Given the description of an element on the screen output the (x, y) to click on. 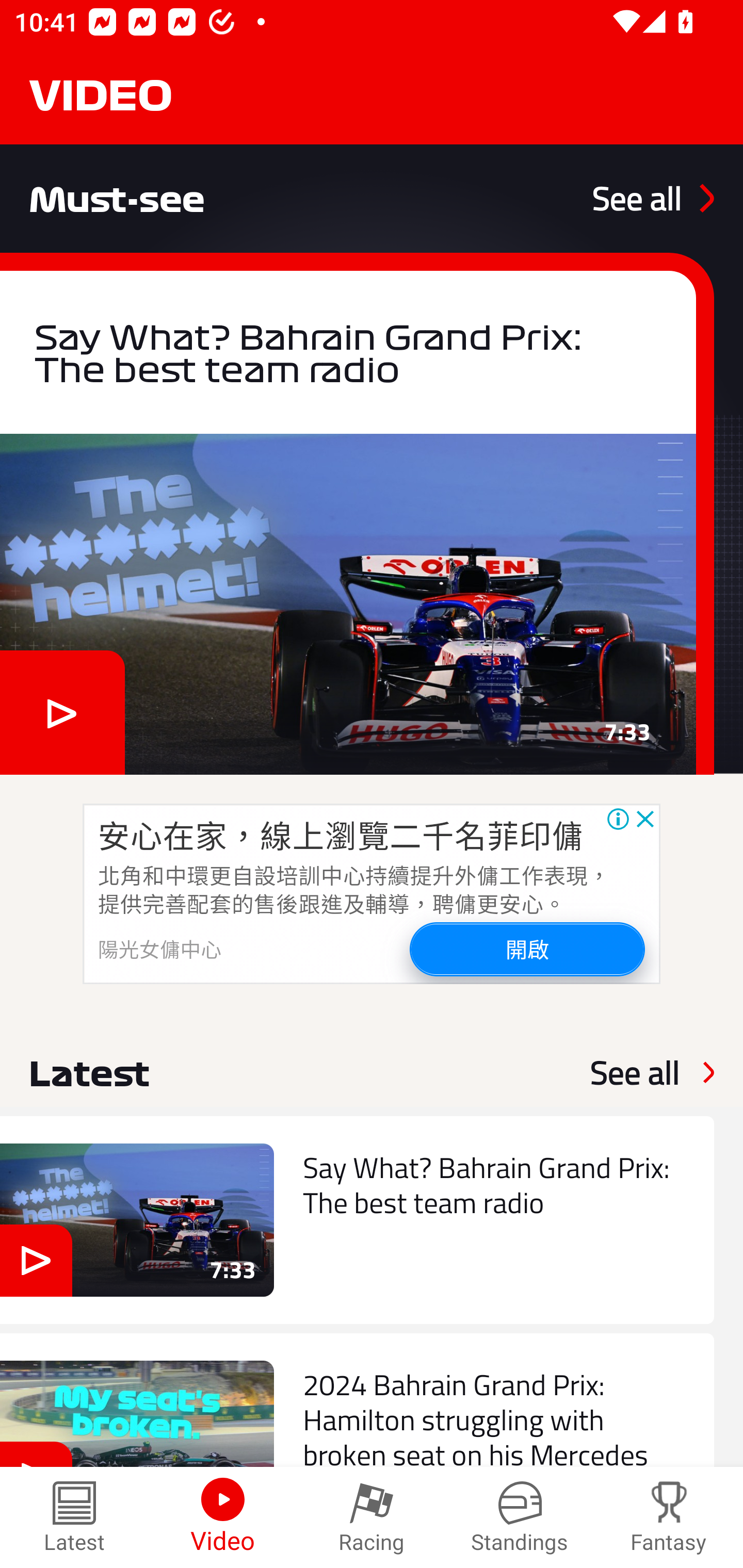
See all (653, 198)
安心在家，線上瀏覽二千名菲印傭 (340, 834)
開啟 (526, 948)
陽光女傭中心 (160, 948)
See all (634, 1072)
Latest (74, 1517)
Racing (371, 1517)
Standings (519, 1517)
Fantasy (668, 1517)
